Given the description of an element on the screen output the (x, y) to click on. 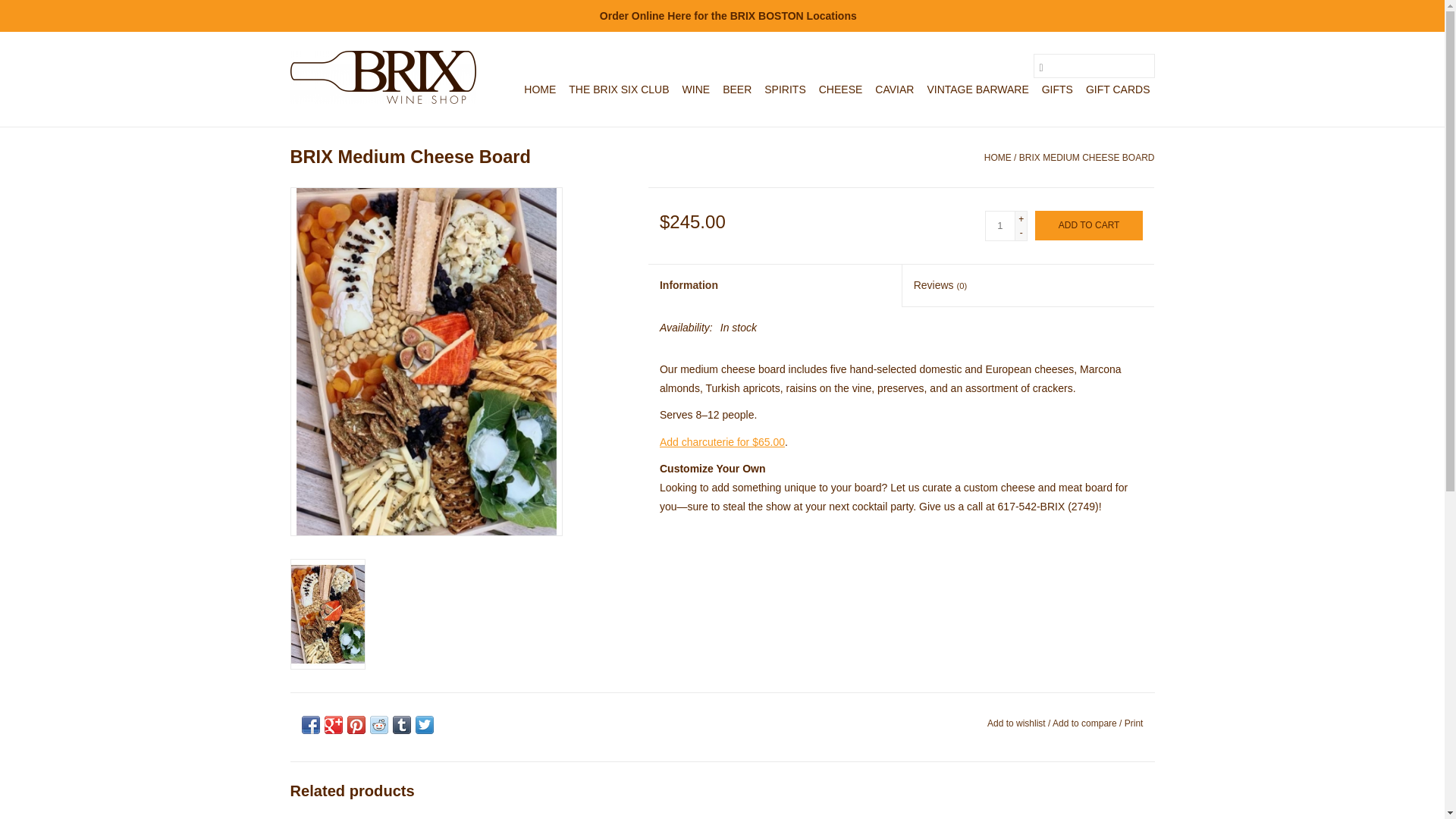
THE BRIX SIX CLUB (618, 88)
HOME (539, 88)
1 (999, 225)
My account (1096, 13)
WINE (696, 88)
Cart (992, 13)
The BRIX Six Club (618, 88)
BEER (736, 88)
Wine (696, 88)
BRIX Wine Shop (382, 77)
